Given the description of an element on the screen output the (x, y) to click on. 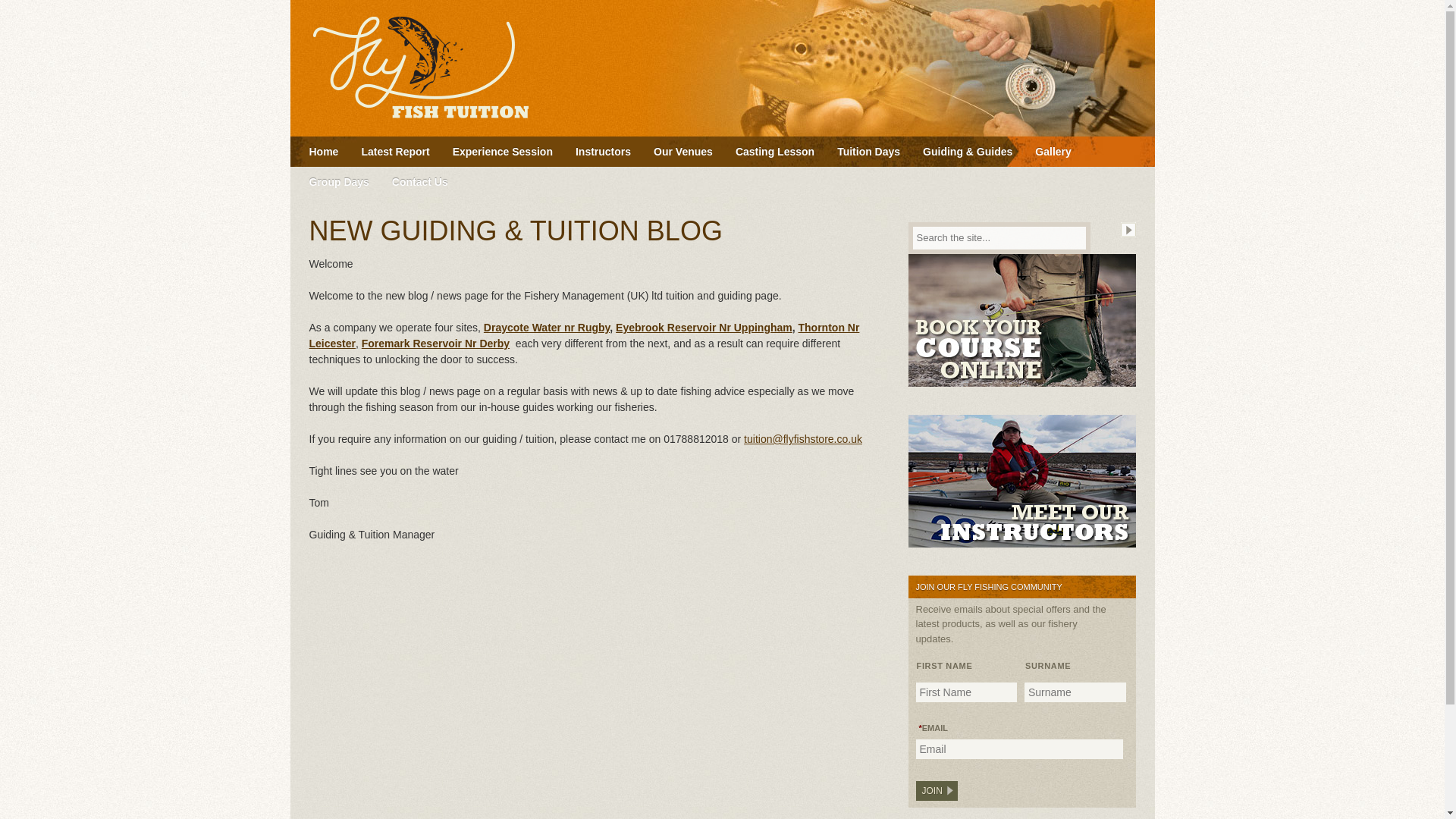
Contact Us (420, 182)
Latest Report (395, 151)
Thornton Nr Leicester (584, 335)
Fly Fishing Instructors (603, 151)
Search (1128, 229)
Our Venues (682, 151)
Gallery (1052, 151)
FLY FISH TUITION (438, 67)
Casting Lesson (774, 151)
Join (936, 790)
Tuition Days (868, 151)
Eyebrook Reservoir Nr Uppingham (703, 327)
Group Days (338, 182)
Courses and Prices (868, 151)
Draycote Water nr Rugby (546, 327)
